Given the description of an element on the screen output the (x, y) to click on. 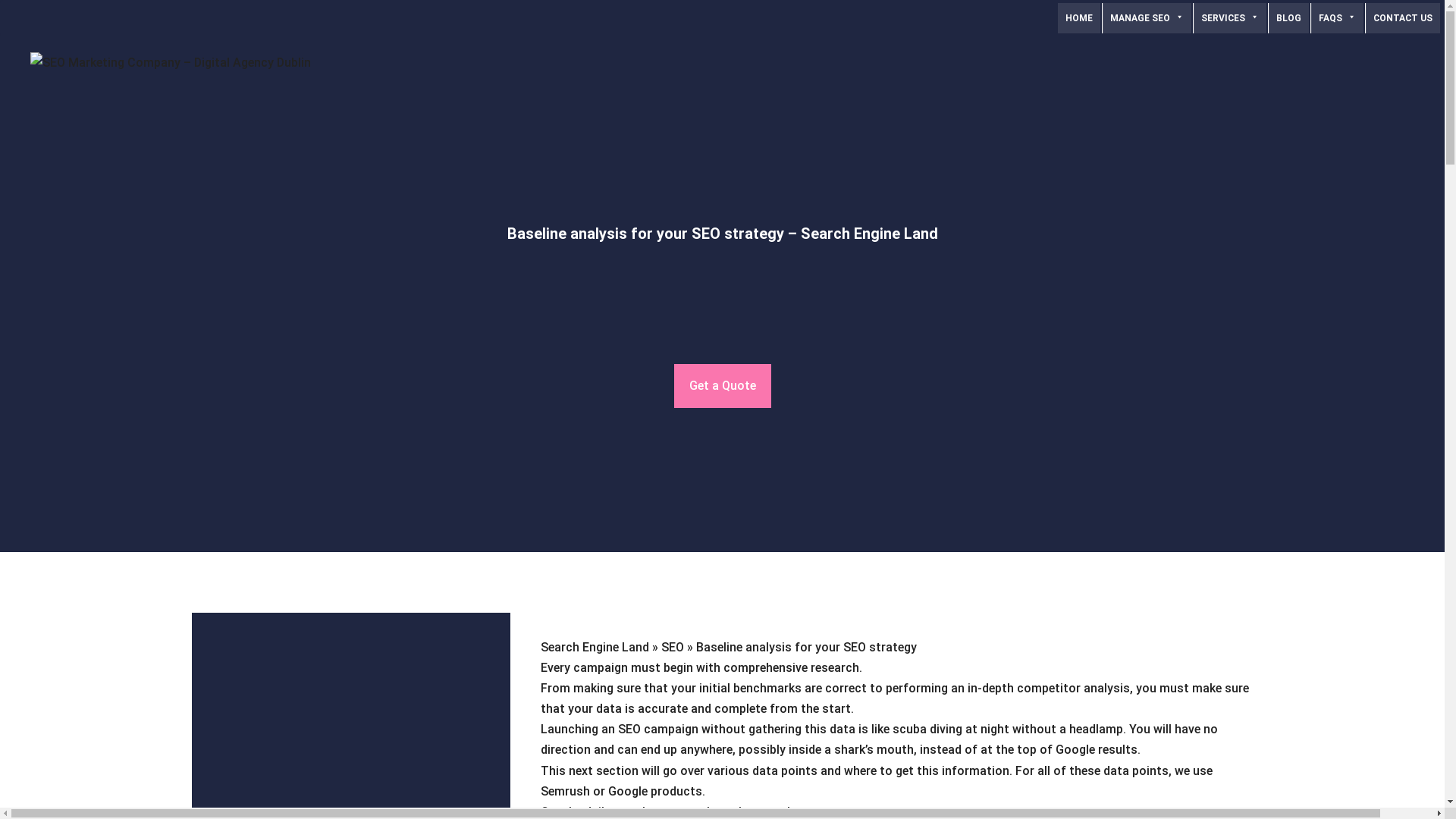
SERVICES (1229, 18)
MANAGE SEO (1146, 18)
HOME (1079, 18)
SEO Agency Dublin (1079, 18)
SEO Services (1229, 18)
SEO Project Management (1146, 18)
